Given the description of an element on the screen output the (x, y) to click on. 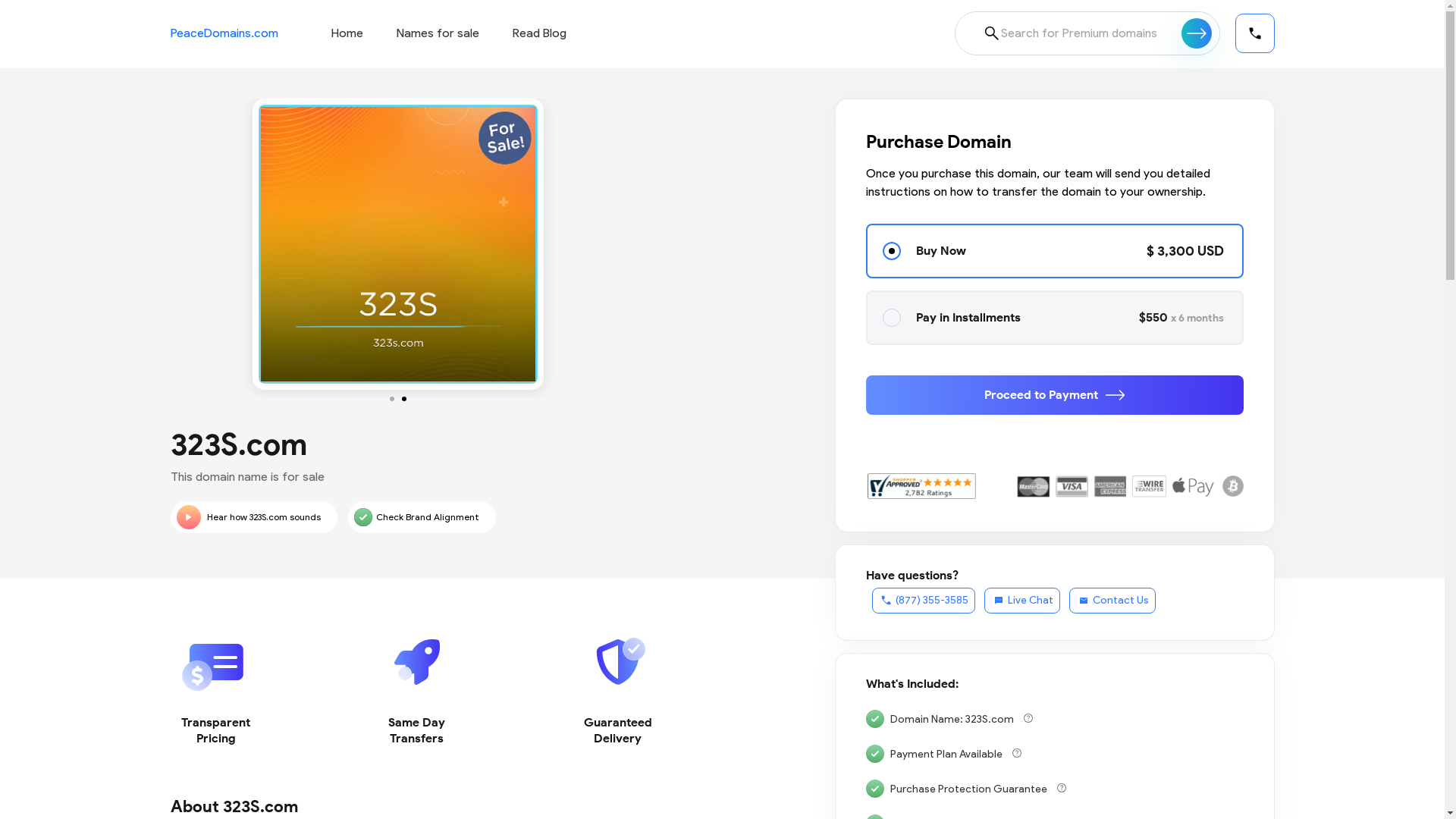
(877) 355-3585 Element type: text (923, 600)
Live Chat Element type: text (1022, 600)
PeaceDomains.com Element type: text (223, 33)
Hear how 323S.com sounds Element type: text (252, 517)
Check Brand Alignment Element type: text (421, 517)
Buy Now
$ 3,300 USD Element type: text (1054, 250)
Read Blog Element type: text (539, 33)
Contact Us Element type: text (1112, 600)
Names for sale Element type: text (436, 33)
Proceed to Payment Element type: text (1054, 394)
Home Element type: text (346, 33)
